Given the description of an element on the screen output the (x, y) to click on. 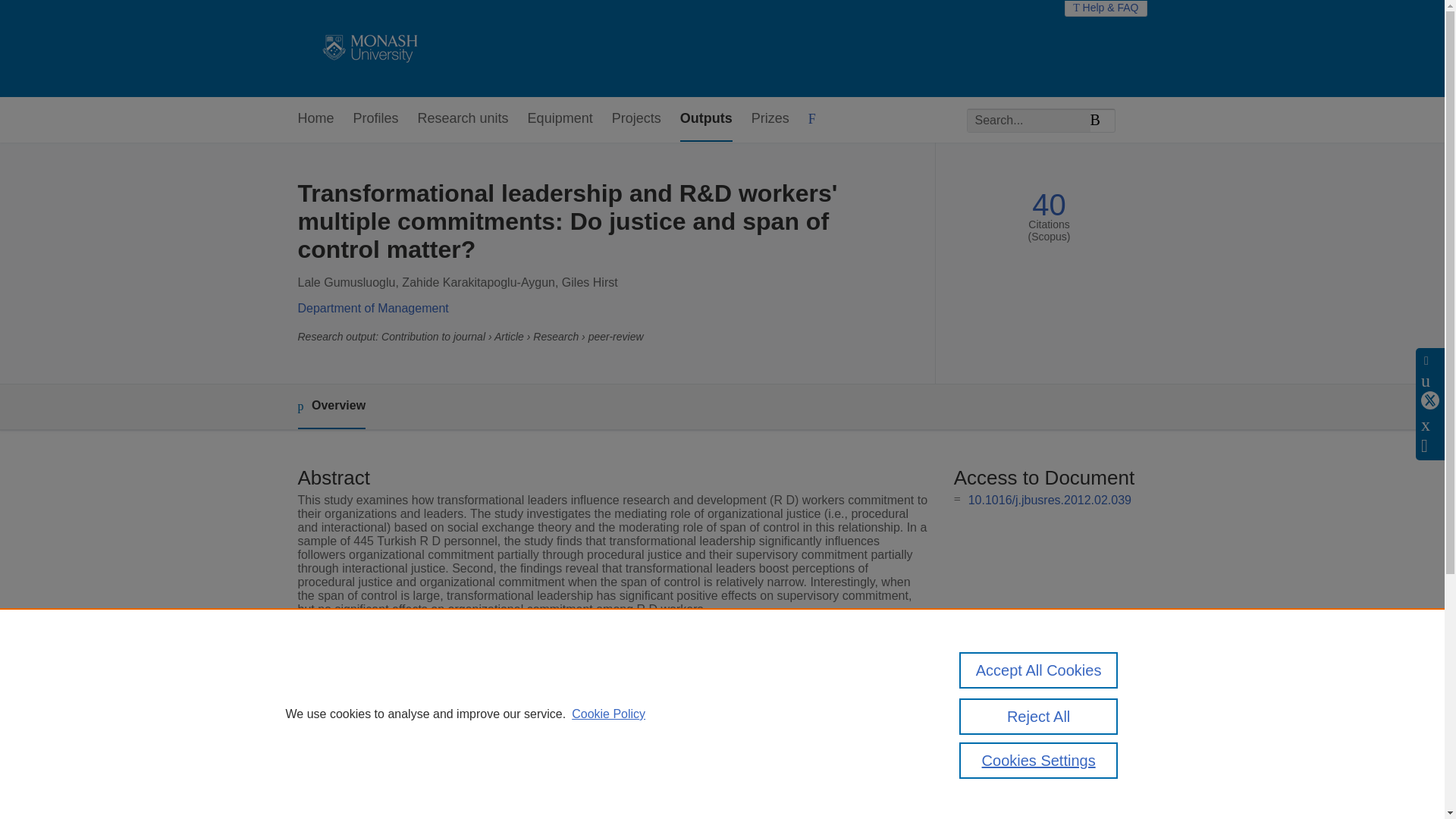
Prizes (770, 119)
Cookie Policy (608, 713)
Research units (462, 119)
Monash University Home (366, 48)
40 (1048, 204)
Reject All (1038, 716)
Projects (636, 119)
Home (315, 119)
Journal of Business Research (589, 699)
Profiles (375, 119)
Cookies Settings (1038, 760)
Overview (331, 406)
Department of Management (372, 308)
Outputs (705, 119)
